Given the description of an element on the screen output the (x, y) to click on. 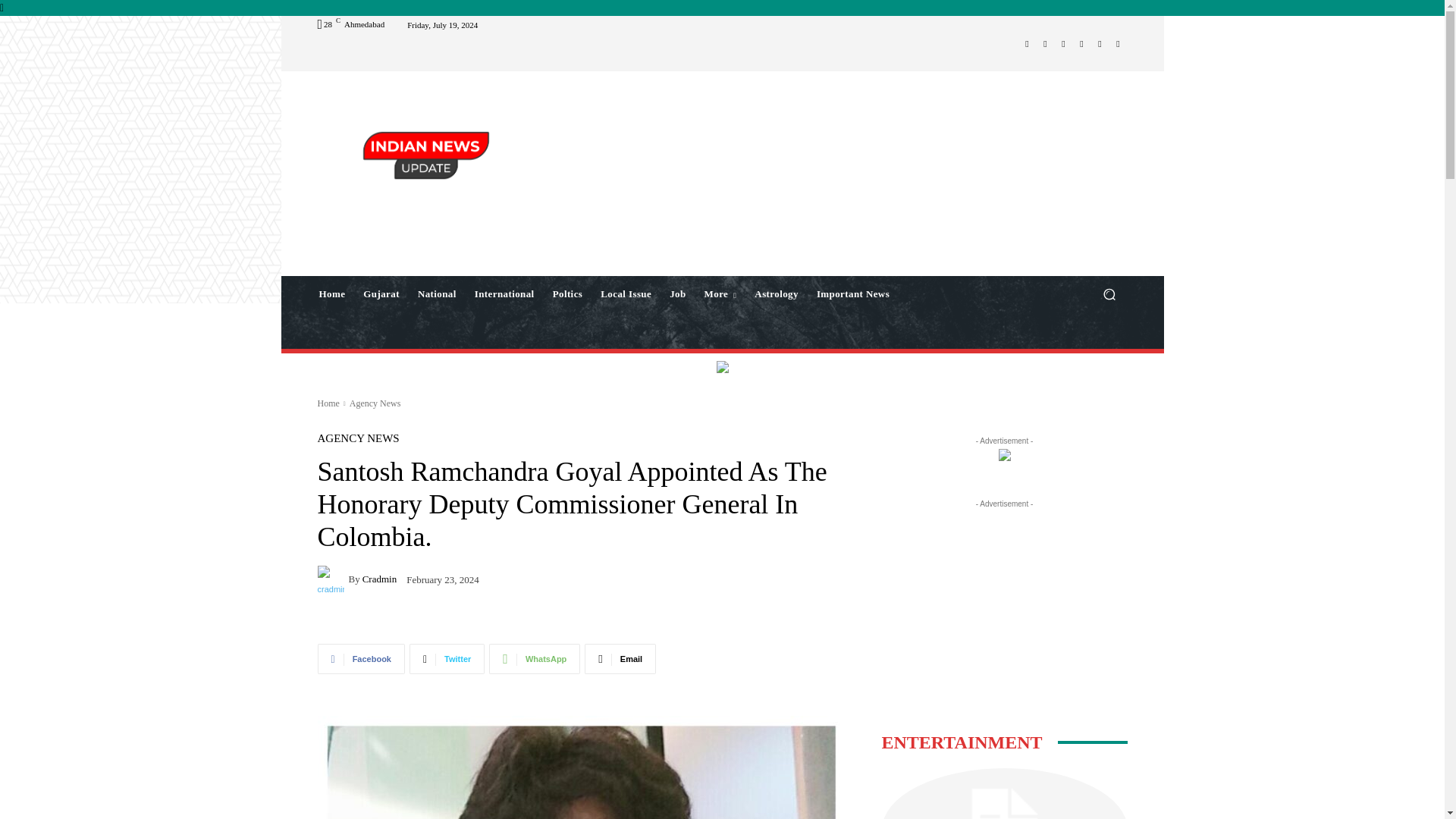
Youtube (1117, 44)
Mail (1062, 44)
Twitter (1080, 44)
Facebook (1026, 44)
Instagram (1044, 44)
WhatsApp (1099, 44)
